Given the description of an element on the screen output the (x, y) to click on. 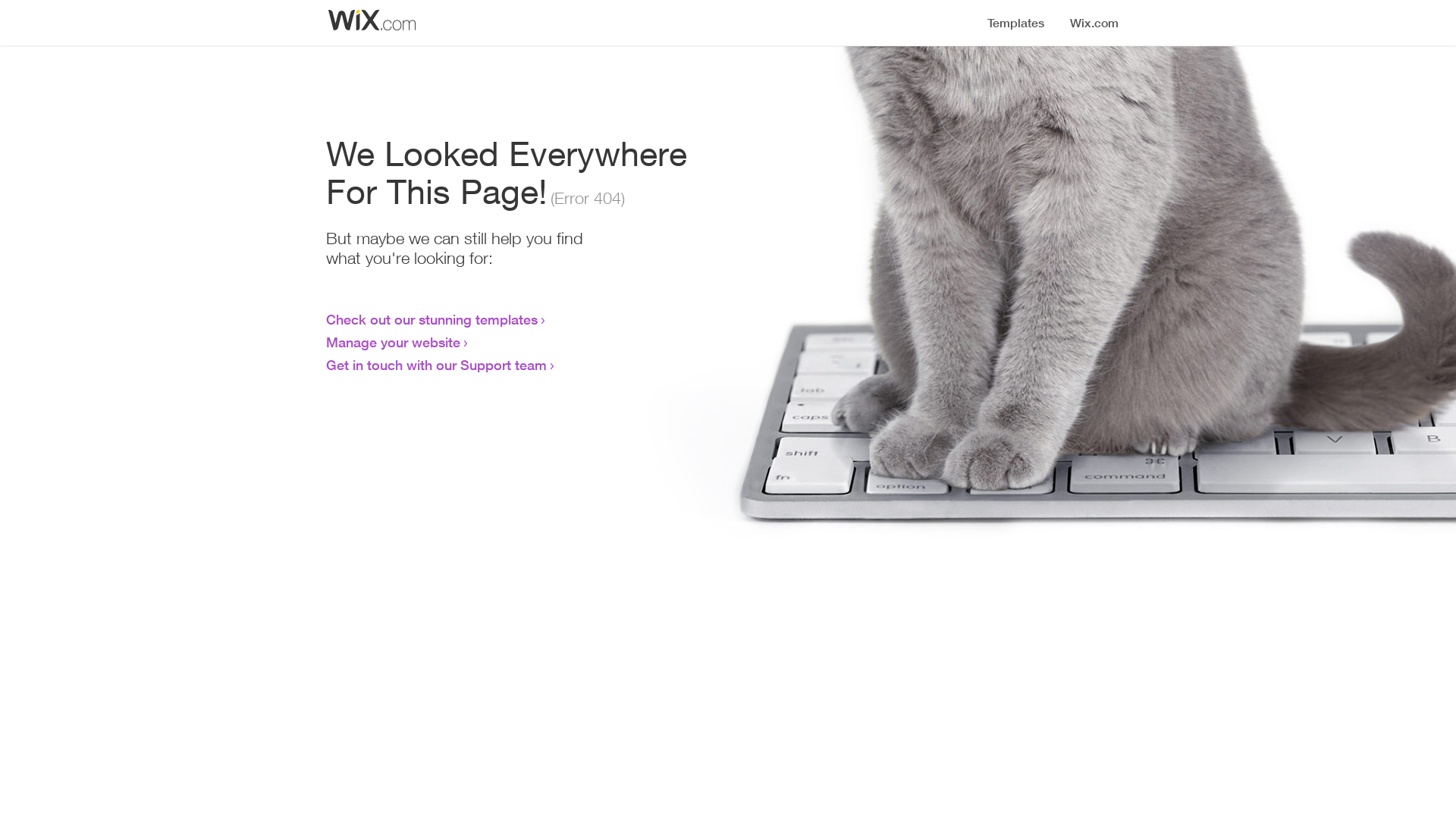
Check out our stunning templates Element type: text (431, 318)
Get in touch with our Support team Element type: text (436, 364)
Manage your website Element type: text (393, 341)
